Given the description of an element on the screen output the (x, y) to click on. 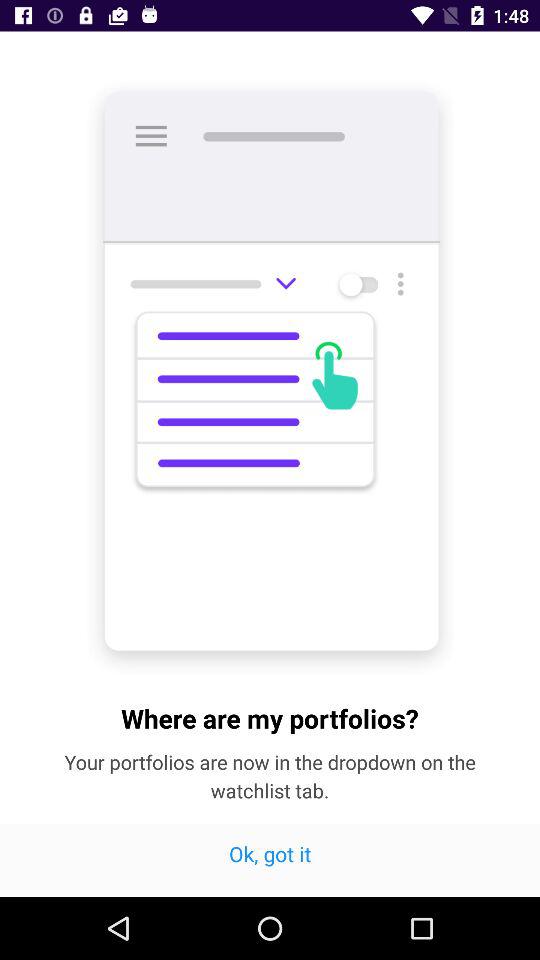
scroll until the ok, got it (270, 859)
